Given the description of an element on the screen output the (x, y) to click on. 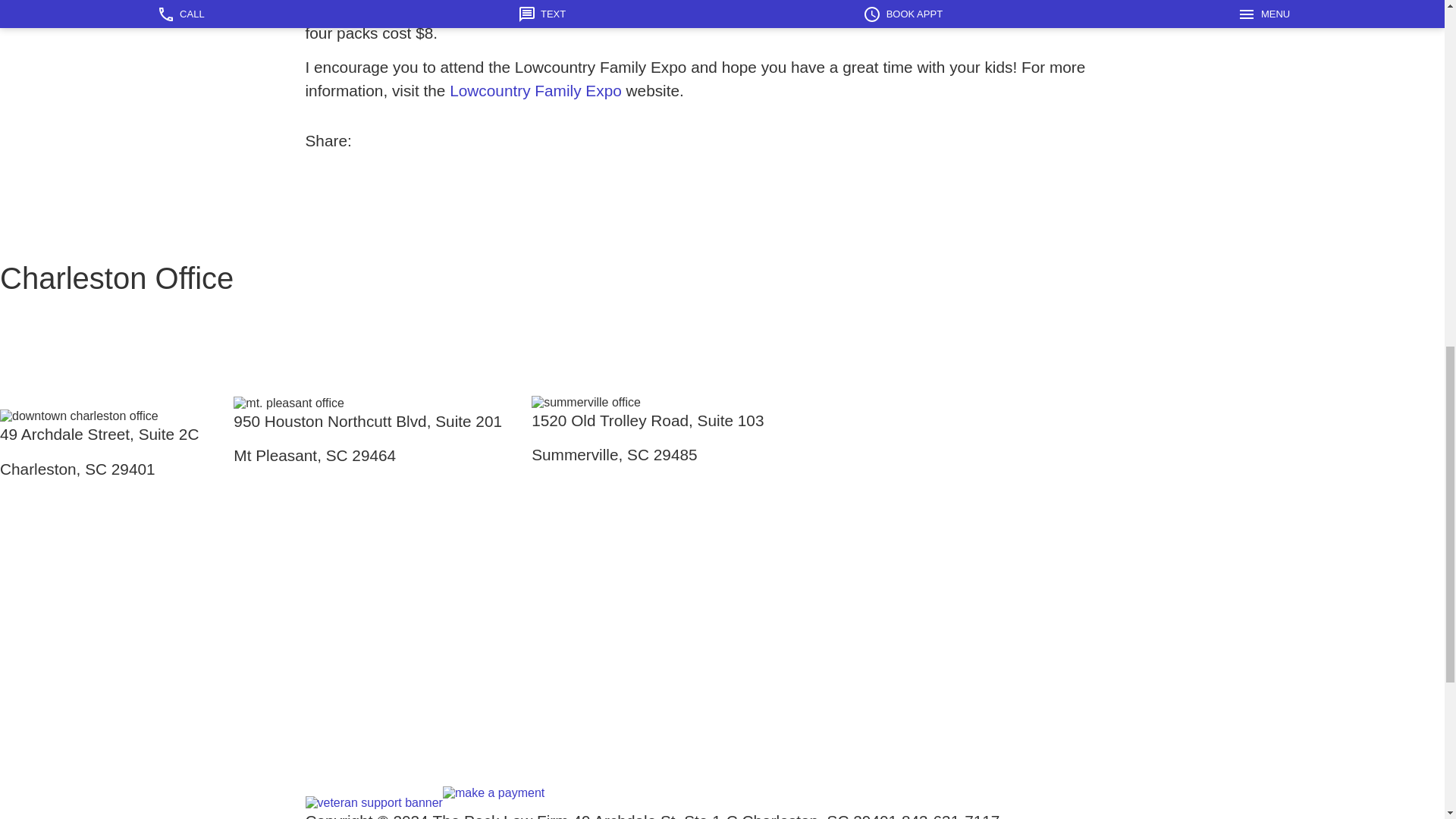
Google map of the Peck Law Firm in Charleston (116, 620)
Google map of the Peck Law Firm in Summerville (658, 606)
Mount Pleasant Office (381, 291)
Summerville Office (658, 291)
Google map of the Peck Law Firm in Mt. Pleasant (381, 606)
Lowcountry Family Expo (535, 90)
